Given the description of an element on the screen output the (x, y) to click on. 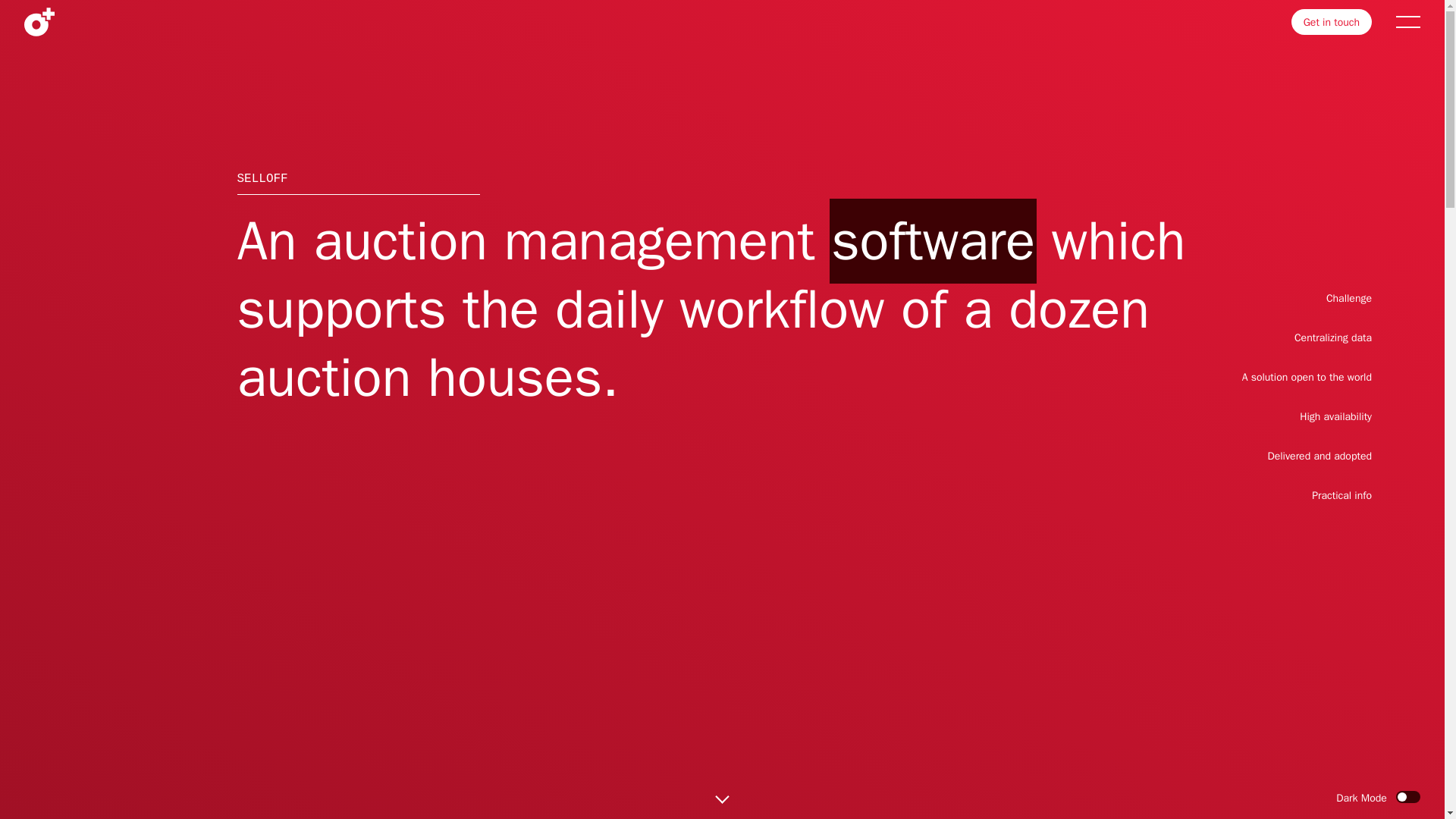
Centralizing data (1332, 337)
A solution open to the world (1306, 377)
Challenge (1348, 297)
Practical info (1341, 495)
Delivered and adopted (1318, 455)
Get in touch (1331, 22)
High availability (1335, 416)
